Given the description of an element on the screen output the (x, y) to click on. 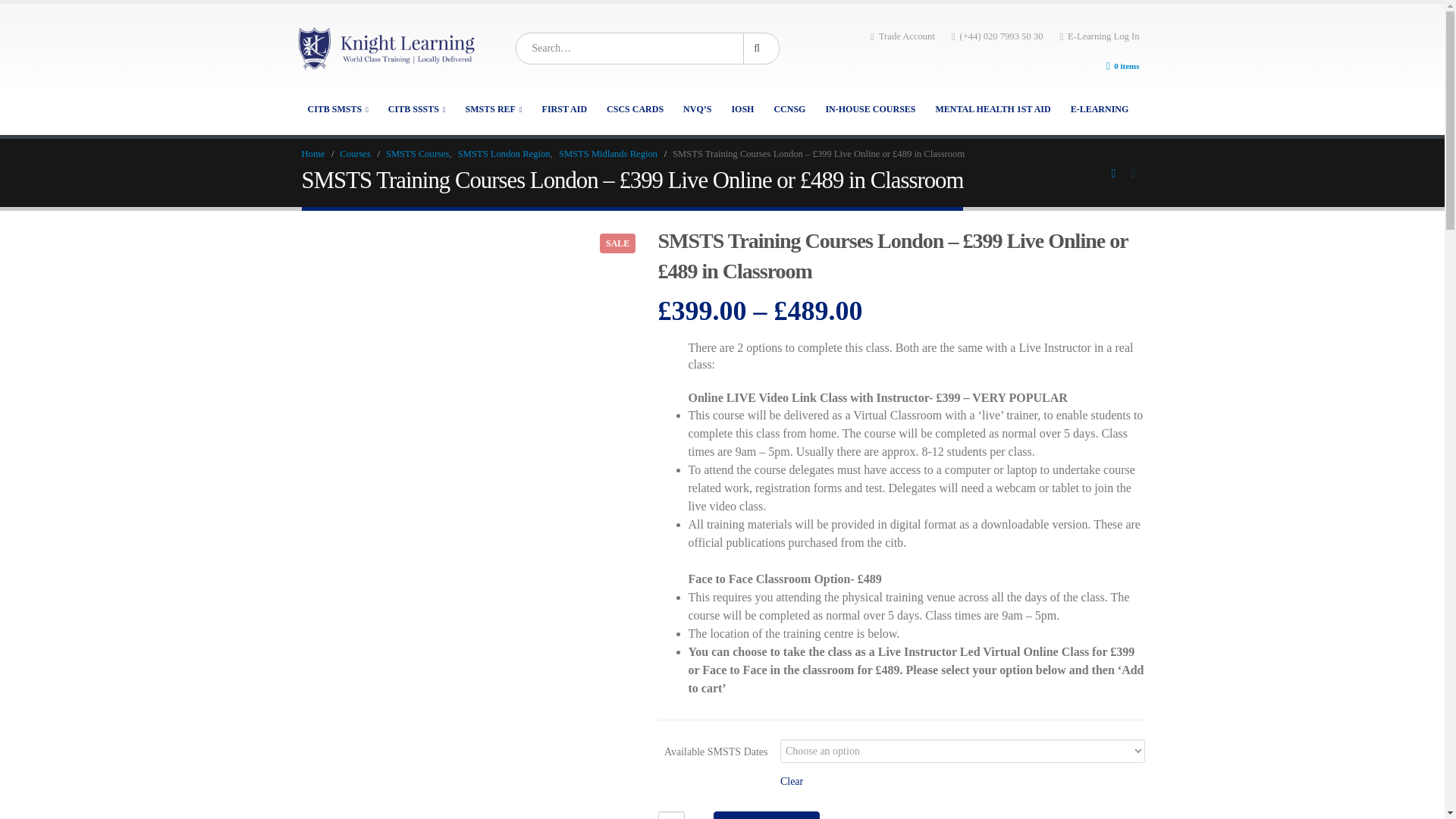
1 (671, 815)
E-Learning Log In (1099, 35)
Search (759, 48)
CITB SMSTS (337, 108)
CITB SSSTS (416, 108)
Trade Account (902, 35)
Qty (671, 815)
